Given the description of an element on the screen output the (x, y) to click on. 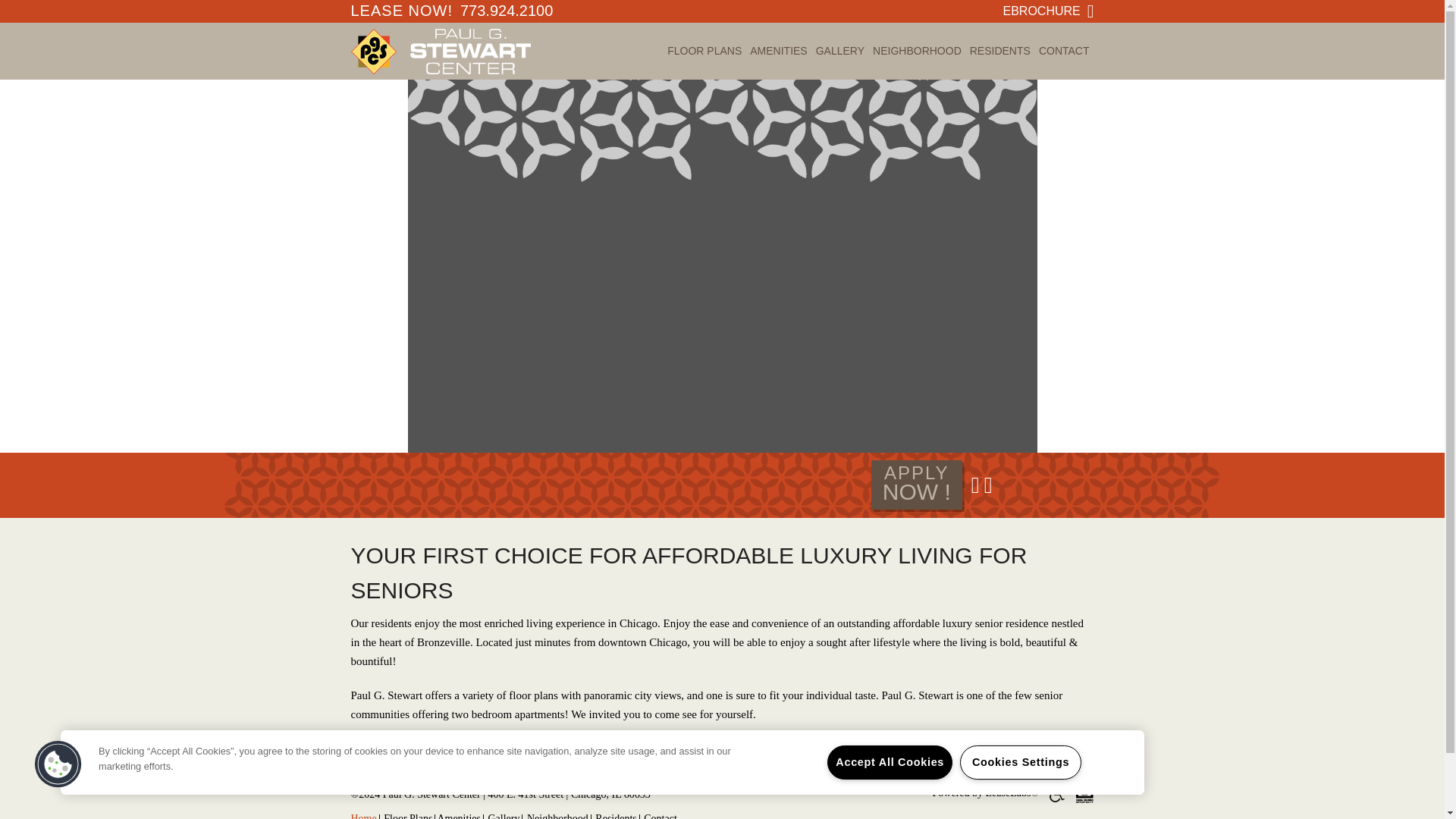
Home (362, 816)
Floor Plans (408, 816)
Residents (615, 816)
Cookies Button (57, 764)
Amenities (458, 816)
Neighborhood (557, 816)
Gallery (503, 816)
CONTACT (1066, 43)
RESIDENTS (916, 484)
Contact (1002, 43)
AMENITIES (1066, 43)
FLOOR PLANS (779, 43)
Amenities (705, 43)
Floor Plans (458, 816)
